Given the description of an element on the screen output the (x, y) to click on. 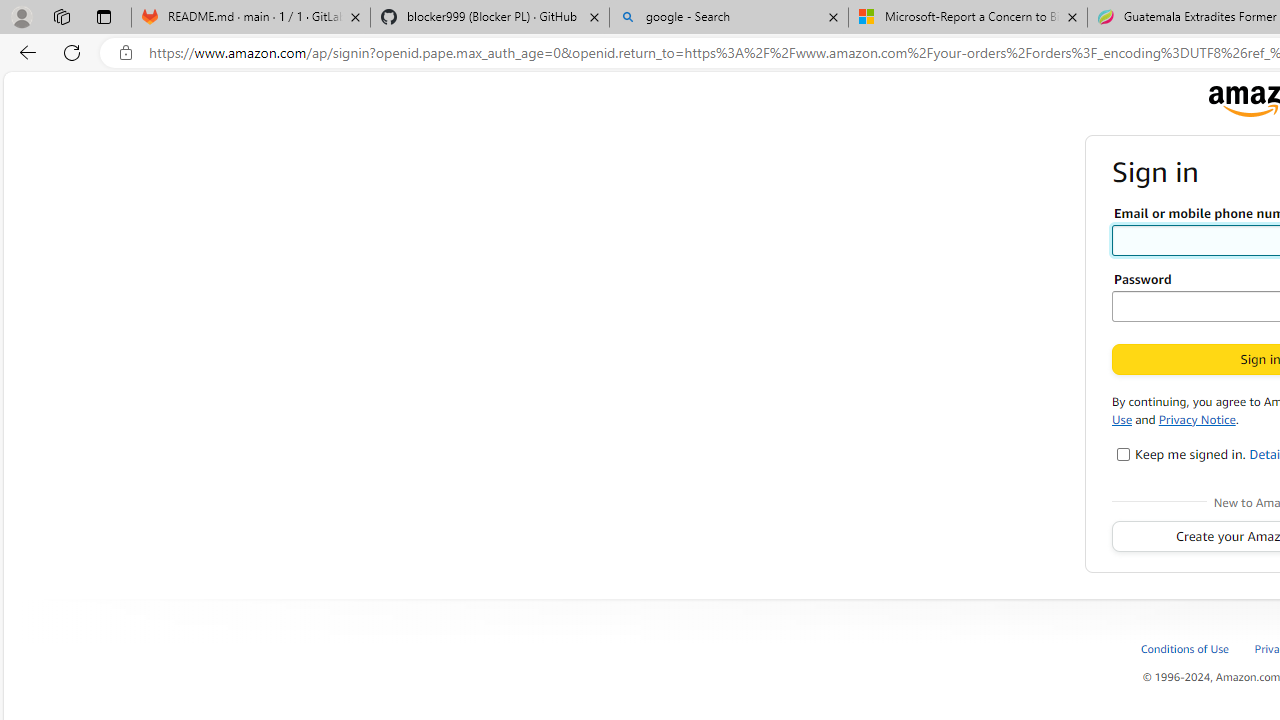
Keep me signed in. Details (1123, 453)
Privacy Notice (1197, 418)
Conditions of Use  (1195, 648)
Conditions of Use  (1185, 647)
